Given the description of an element on the screen output the (x, y) to click on. 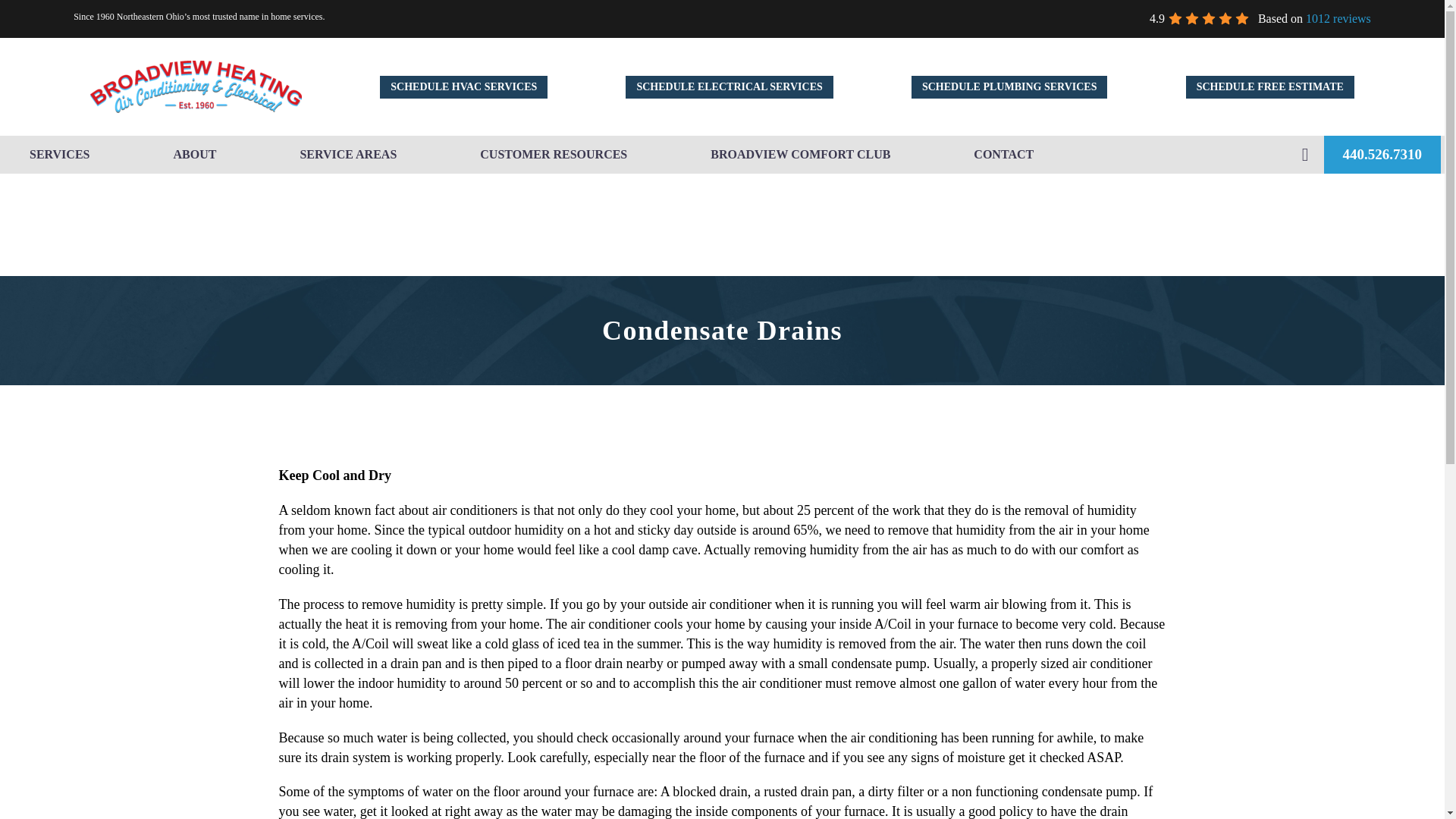
SCHEDULE PLUMBING SERVICES (1009, 87)
SCHEDULE HVAC SERVICES (463, 87)
SCHEDULE FREE ESTIMATE (1270, 87)
1012 reviews (1338, 18)
SCHEDULE ELECTRICAL SERVICES (729, 87)
